Given the description of an element on the screen output the (x, y) to click on. 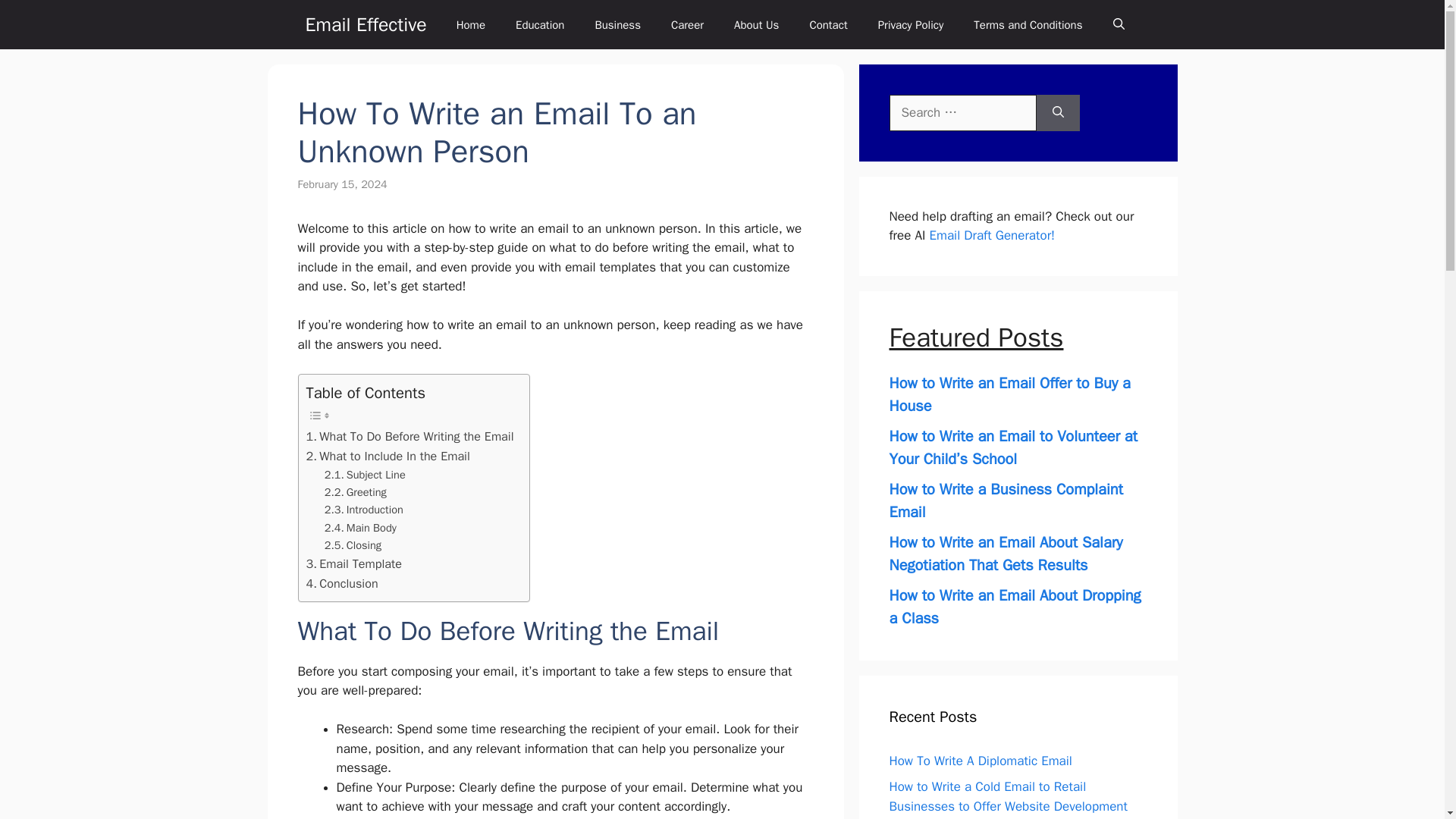
Subject Line (365, 475)
Email Template (353, 564)
Greeting (355, 492)
Conclusion (341, 583)
What To Do Before Writing the Email (409, 436)
About Us (756, 23)
Home (470, 23)
What to Include In the Email (387, 456)
Introduction (363, 509)
Business (617, 23)
Subject Line (365, 475)
How To Write A Diplomatic Email (979, 760)
Search for: (961, 113)
Main Body (360, 528)
Closing (352, 545)
